Given the description of an element on the screen output the (x, y) to click on. 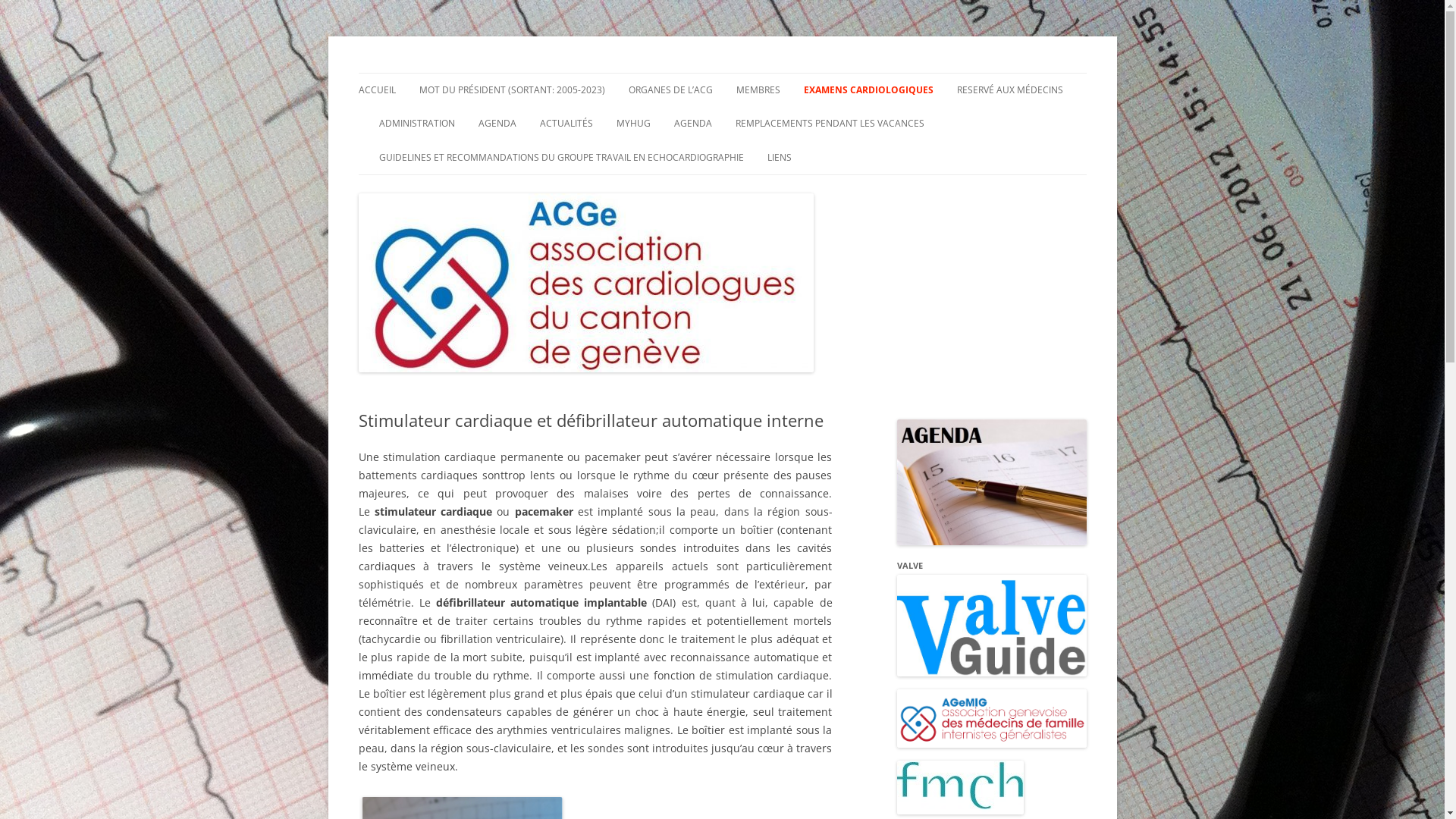
ECG, HOLTER, R-TEST, REMLER Element type: text (879, 122)
EXAMENS CARDIOLOGIQUES Element type: text (868, 89)
ADMINISTRATION Element type: text (417, 123)
ACCUEIL Element type: text (376, 89)
TARMED 2018: Element type: text (1032, 122)
Valve Element type: hover (990, 672)
AGENDA Element type: text (692, 123)
REMPLACEMENTS PENDANT LES VACANCES Element type: text (829, 123)
LIENS Element type: text (779, 157)
MYHUG Element type: text (632, 123)
AGENDA Element type: text (496, 123)
MEMBRES A-D Element type: text (811, 122)
Aller au contenu Element type: text (721, 72)
MEMBRES Element type: text (757, 89)
